Given the description of an element on the screen output the (x, y) to click on. 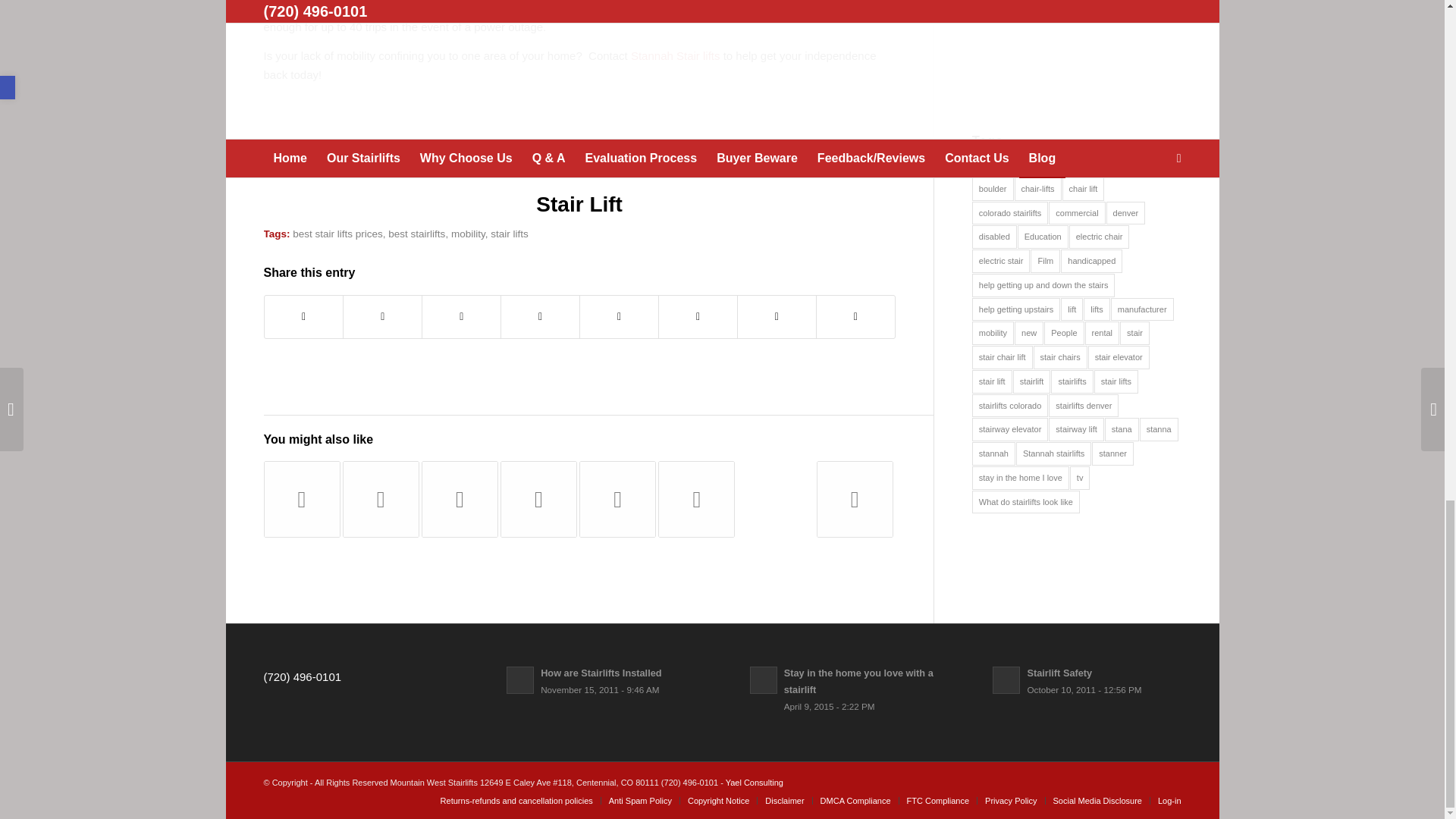
Stairlift Appearance Matters (380, 499)
stair lifts (509, 233)
Guarantees Matter (301, 499)
best stair lifts prices (337, 233)
Stannah Stair lifts (675, 55)
best stairlifts (416, 233)
mobility (467, 233)
